Given the description of an element on the screen output the (x, y) to click on. 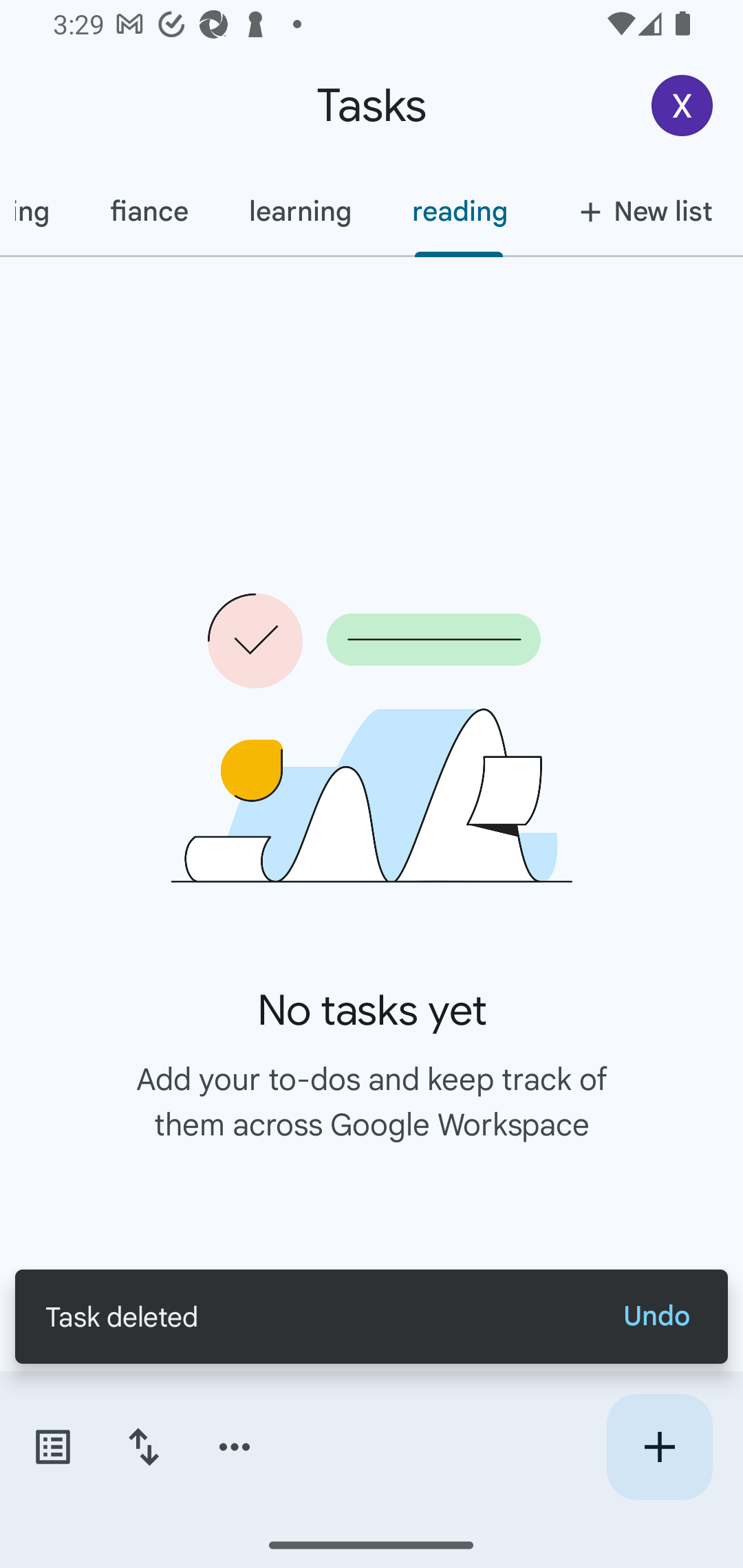
fiance (148, 211)
learning (299, 211)
New list (640, 211)
Undo (656, 1316)
Switch task lists (52, 1447)
Create new task (659, 1446)
Change sort order (143, 1446)
More options (234, 1446)
